Given the description of an element on the screen output the (x, y) to click on. 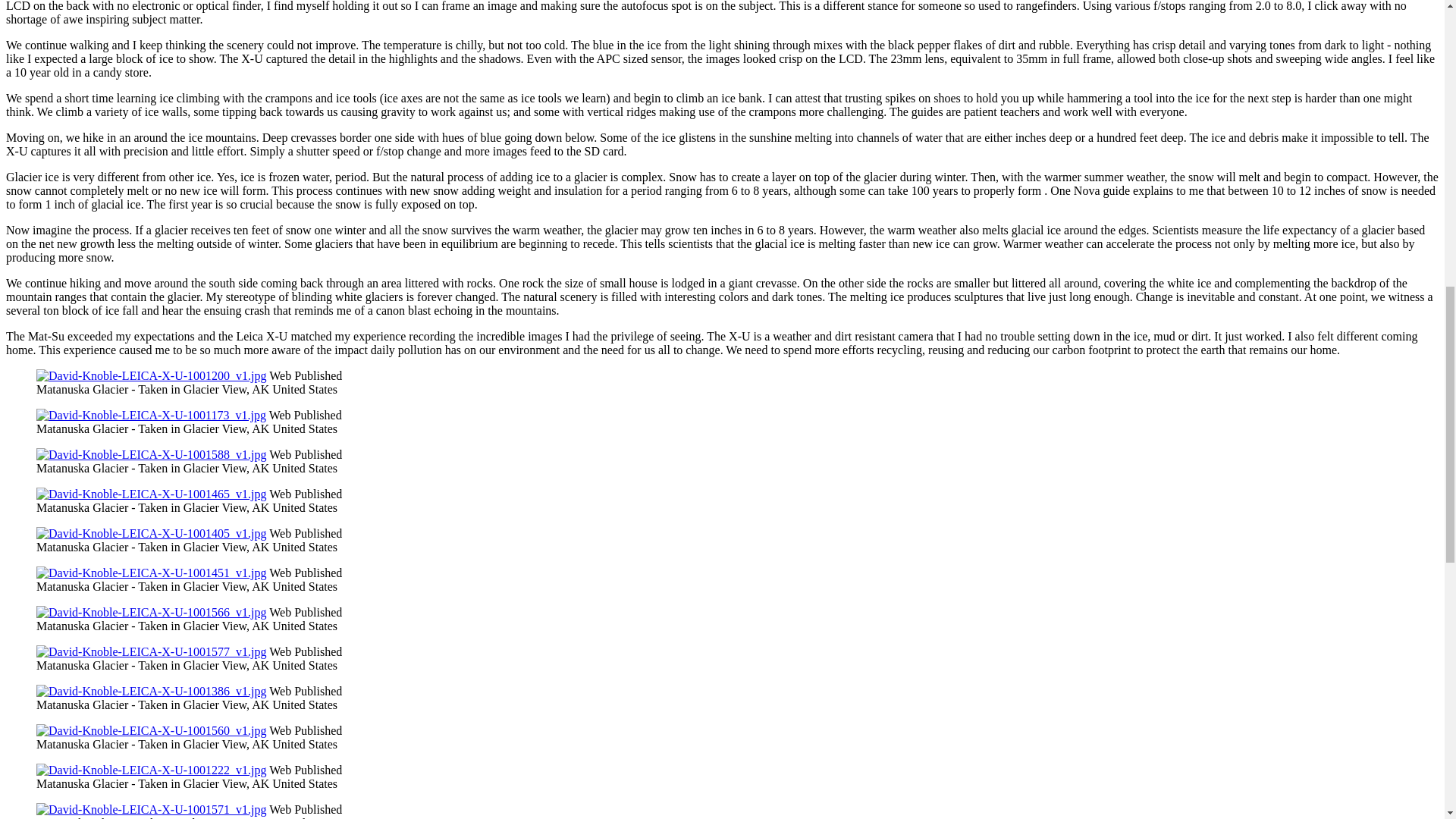
Web Published (305, 454)
Web Published (305, 651)
Web Published (305, 533)
Web Published (305, 572)
Web Published (305, 375)
Web Published (305, 690)
Web Published (305, 493)
Web Published (305, 612)
Web Published (305, 414)
